Given the description of an element on the screen output the (x, y) to click on. 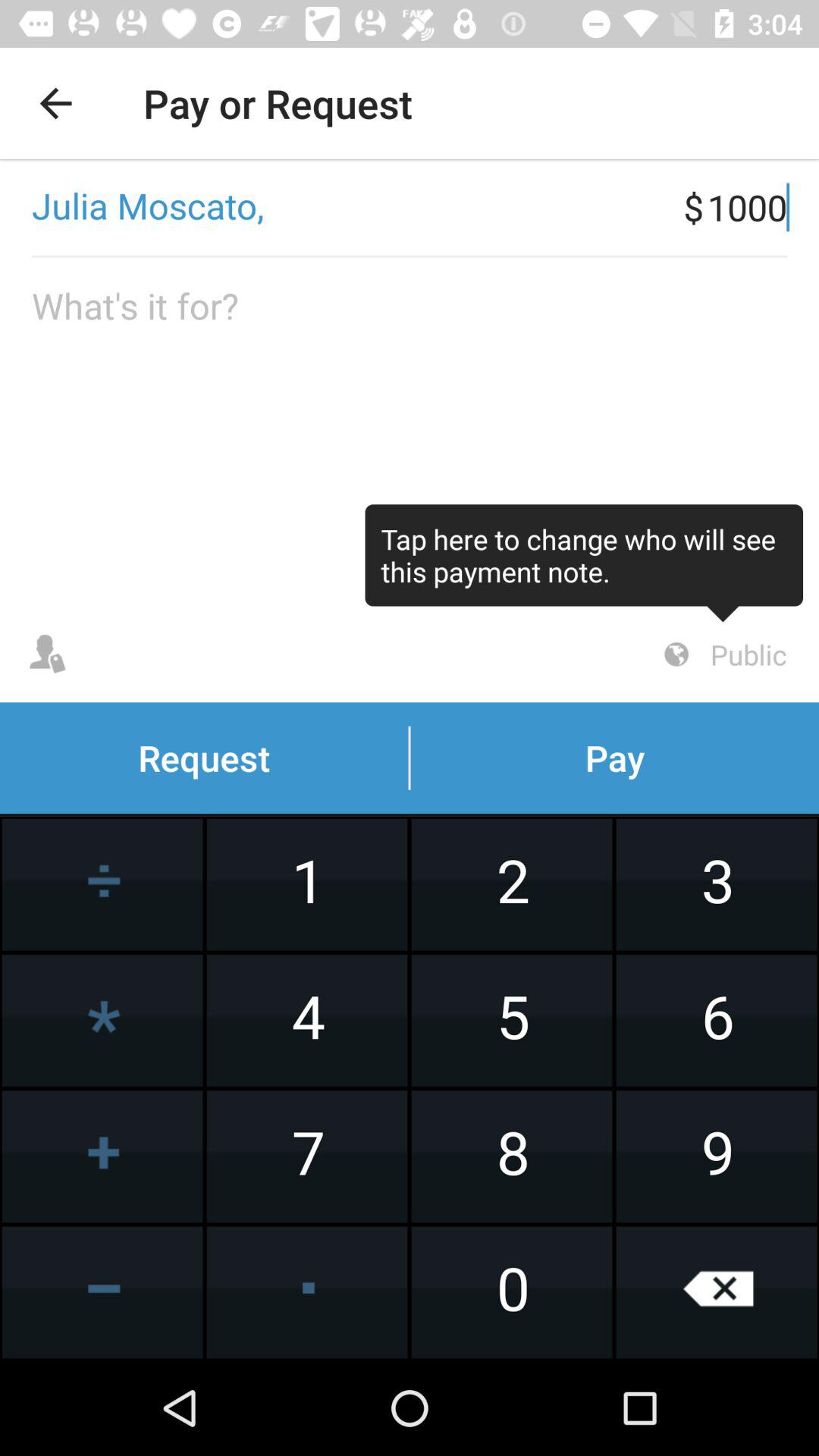
type message (409, 431)
